Given the description of an element on the screen output the (x, y) to click on. 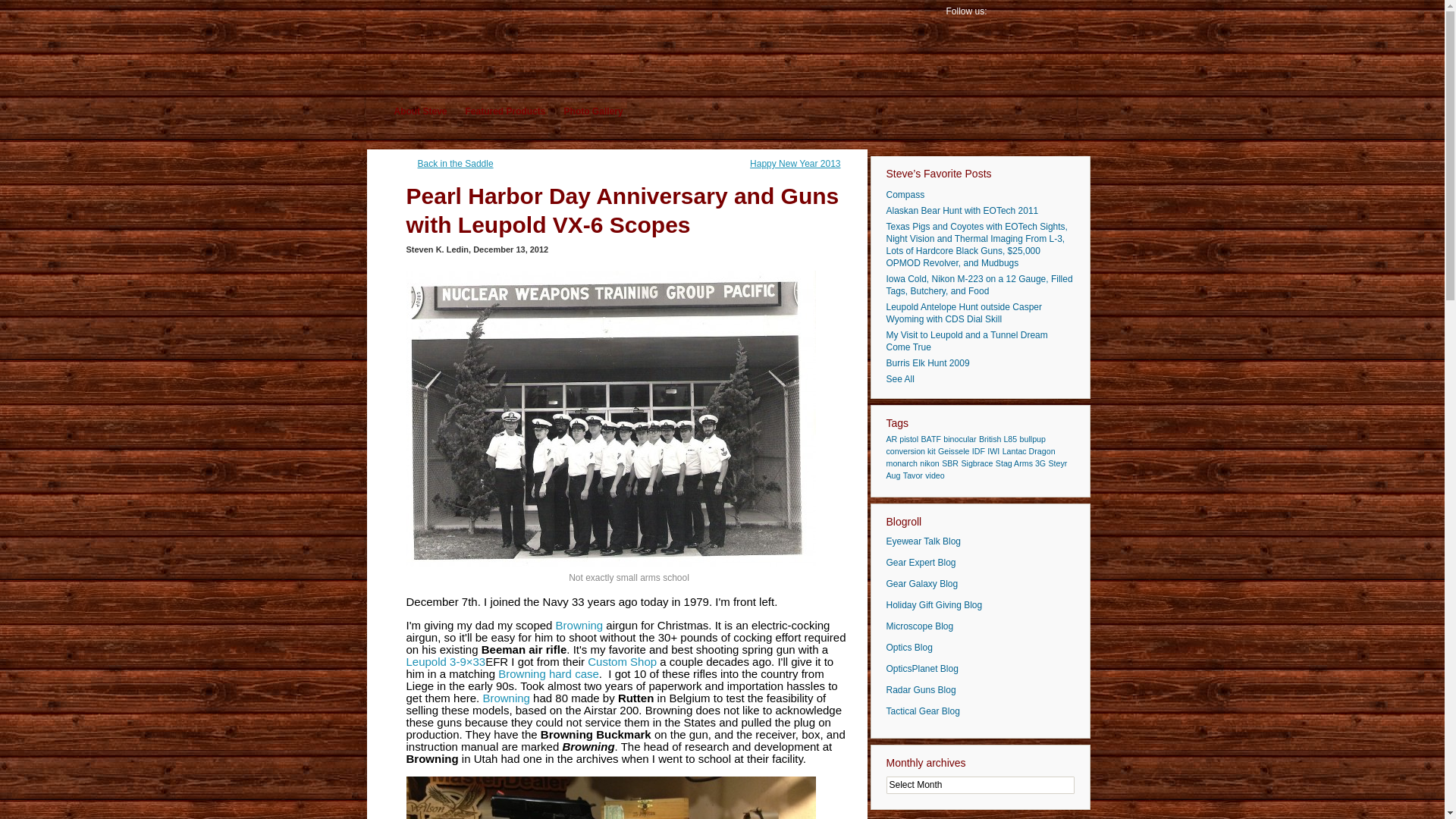
My Visit to Leupold and a Tunnel Dream Come True (979, 340)
AR pistol (901, 438)
Compass (979, 194)
Browning Electric Airgun (610, 797)
Steyr Aug (976, 468)
Holiday Gift Giving Blog (933, 604)
Gear Expert Blog (920, 562)
Alaskan Bear Hunt with EOTech 2011 (979, 210)
BATF (930, 438)
